Given the description of an element on the screen output the (x, y) to click on. 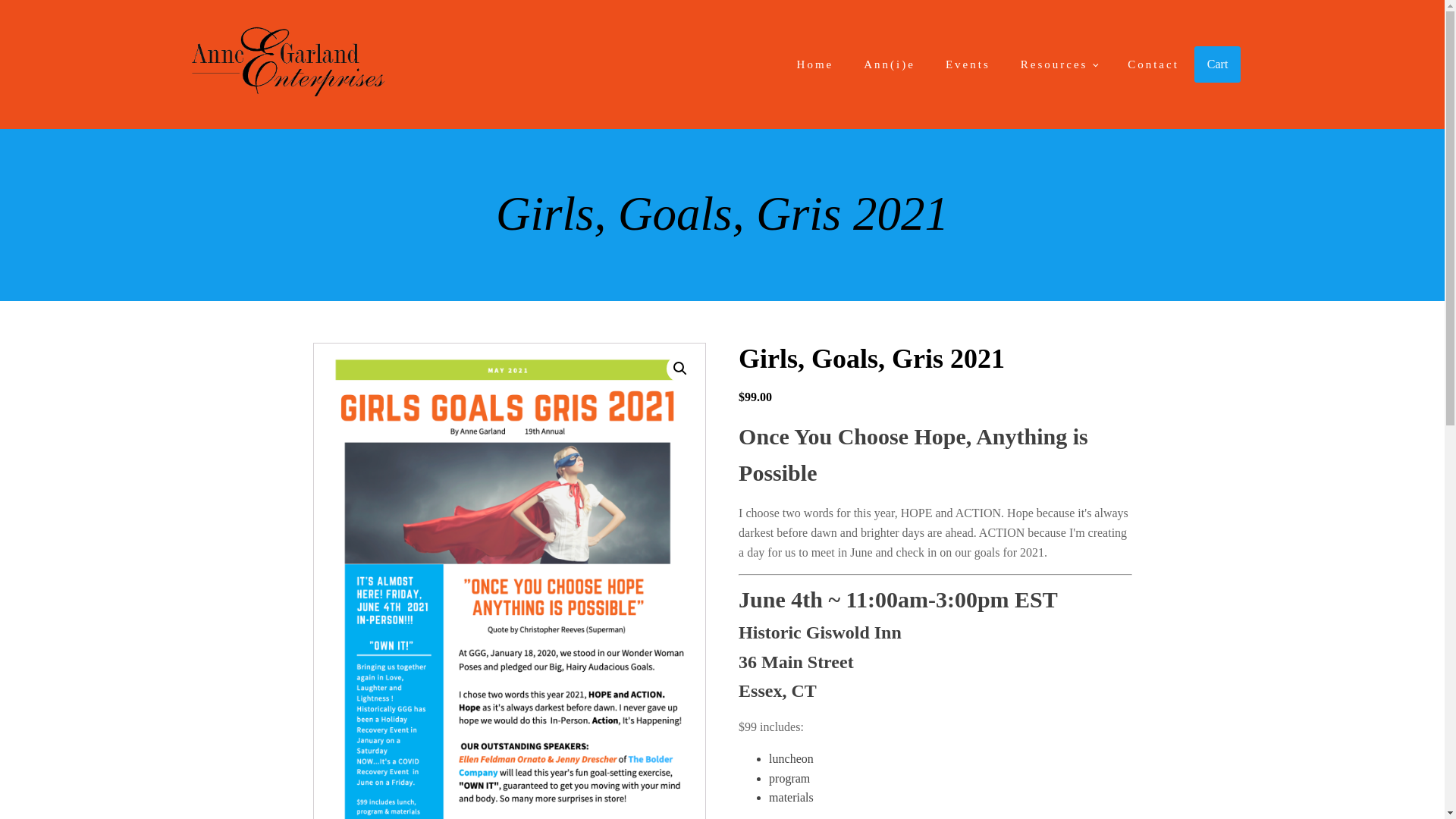
Events (968, 63)
Contact (1152, 63)
Cart (1217, 63)
Resources (1059, 63)
Home (814, 63)
